Given the description of an element on the screen output the (x, y) to click on. 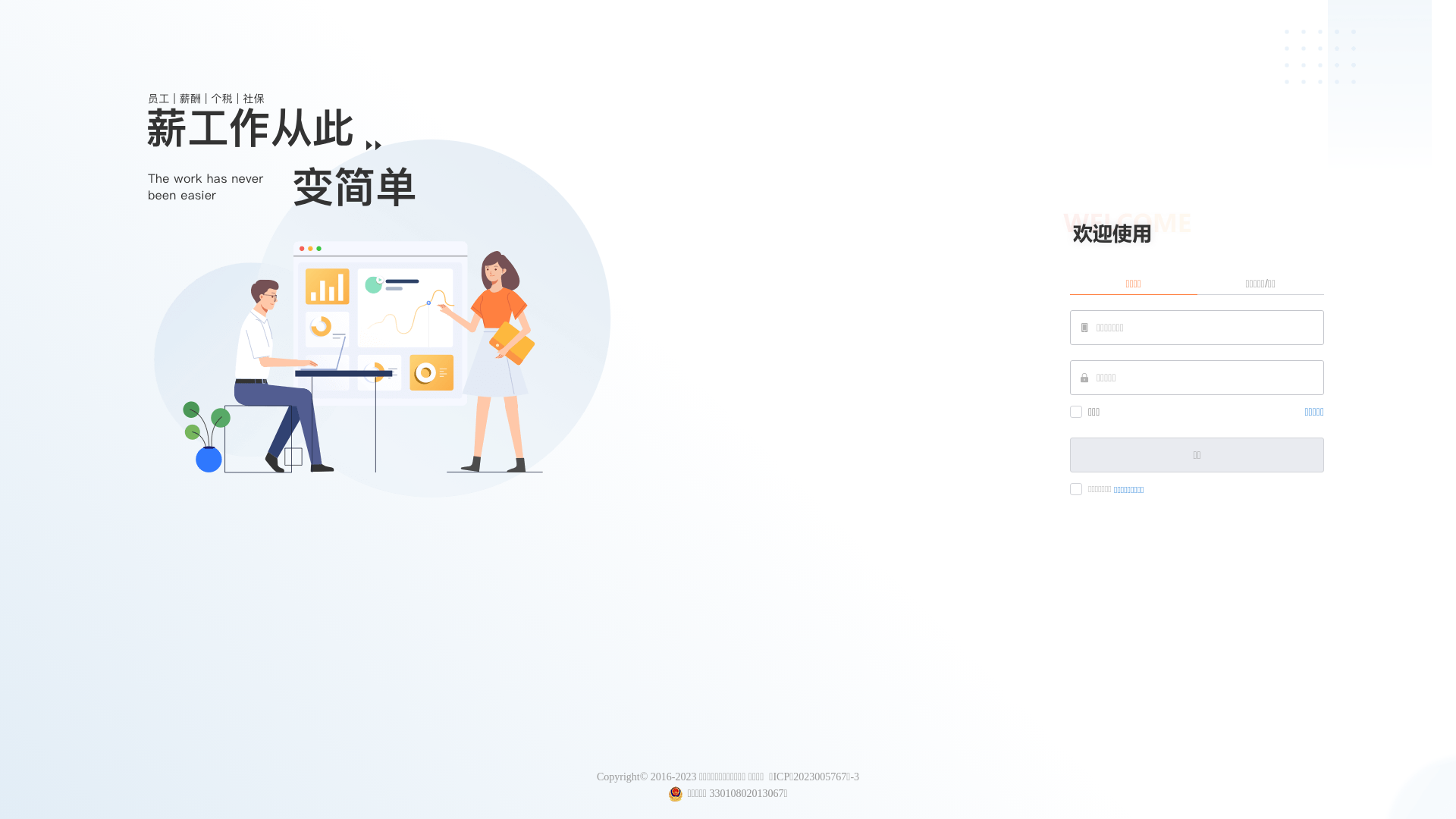
iframe Element type: hover (1196, 424)
